Given the description of an element on the screen output the (x, y) to click on. 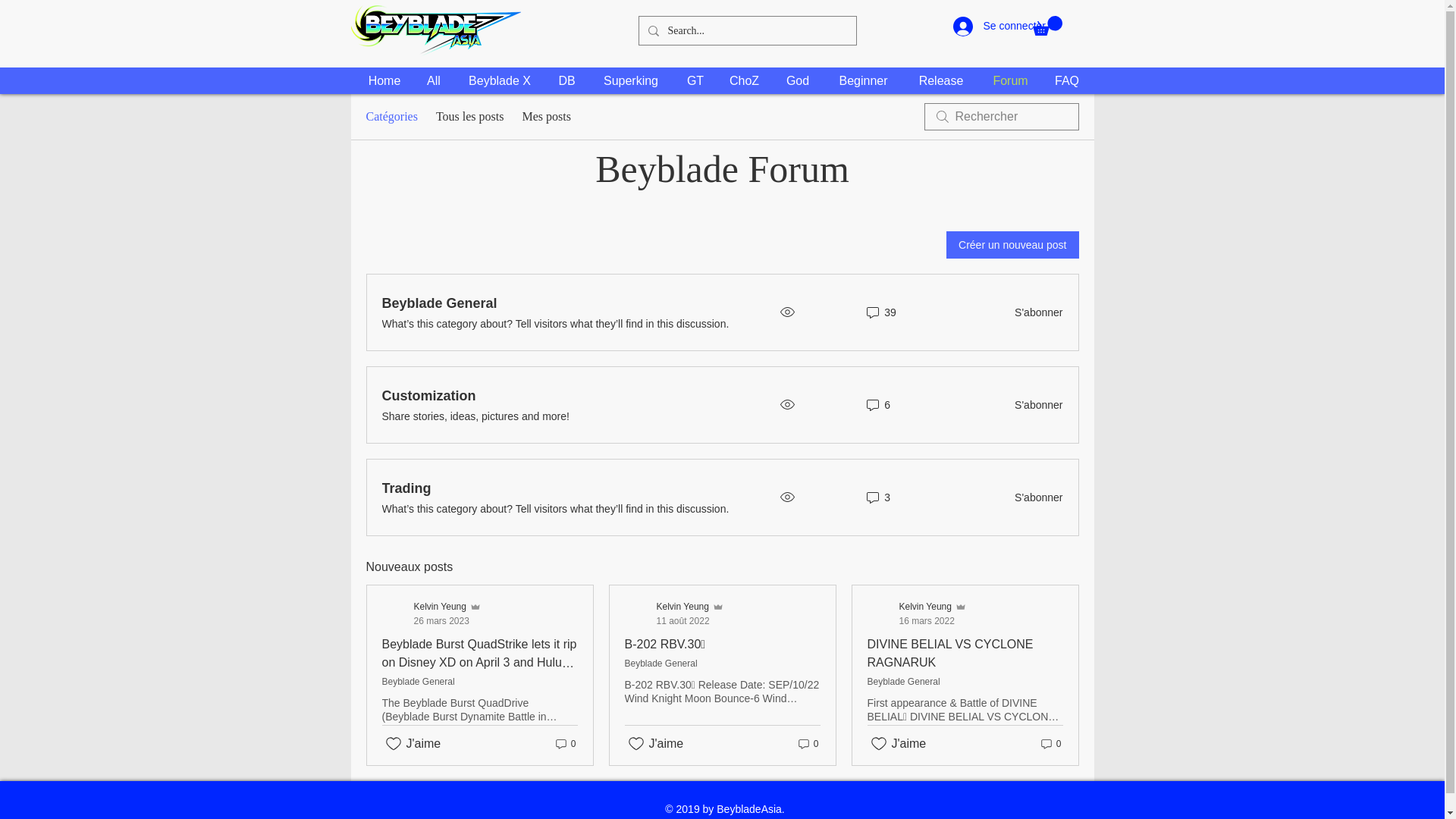
S'abonner (1034, 404)
God (796, 80)
S'abonner (431, 613)
Tous les posts (1034, 312)
FAQ (469, 116)
Customization (1066, 80)
Trading (428, 395)
0 (405, 488)
GT (807, 743)
S'abonner (695, 80)
Forum (1034, 497)
DIVINE BELIAL VS CYCLONE RAGNARUK (1010, 80)
Superking (950, 653)
